Given the description of an element on the screen output the (x, y) to click on. 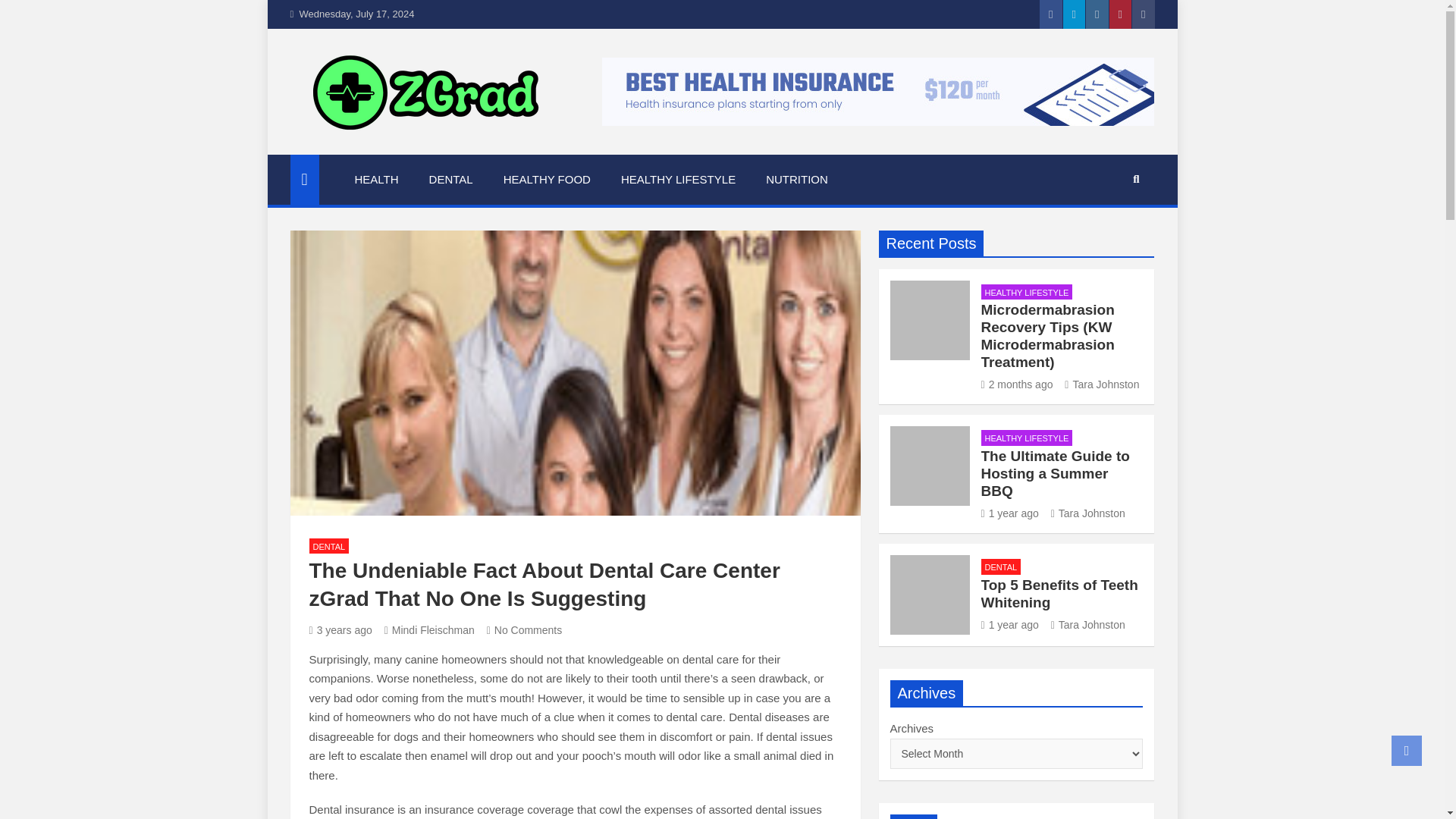
zGrad (332, 151)
NUTRITION (797, 179)
2 months ago (1016, 384)
HEALTHY LIFESTYLE (678, 179)
HEALTHY LIFESTYLE (1027, 292)
Top 5 Benefits of Teeth Whitening (1010, 624)
DENTAL (328, 546)
No Comments (524, 630)
HEALTHY FOOD (546, 179)
1 year ago (1010, 512)
HEALTHY LIFESTYLE (1027, 437)
The Ultimate Guide to Hosting a Summer BBQ (1010, 512)
Mindi Fleischman (429, 630)
The Ultimate Guide to Hosting a Summer BBQ (1055, 472)
DENTAL (450, 179)
